Given the description of an element on the screen output the (x, y) to click on. 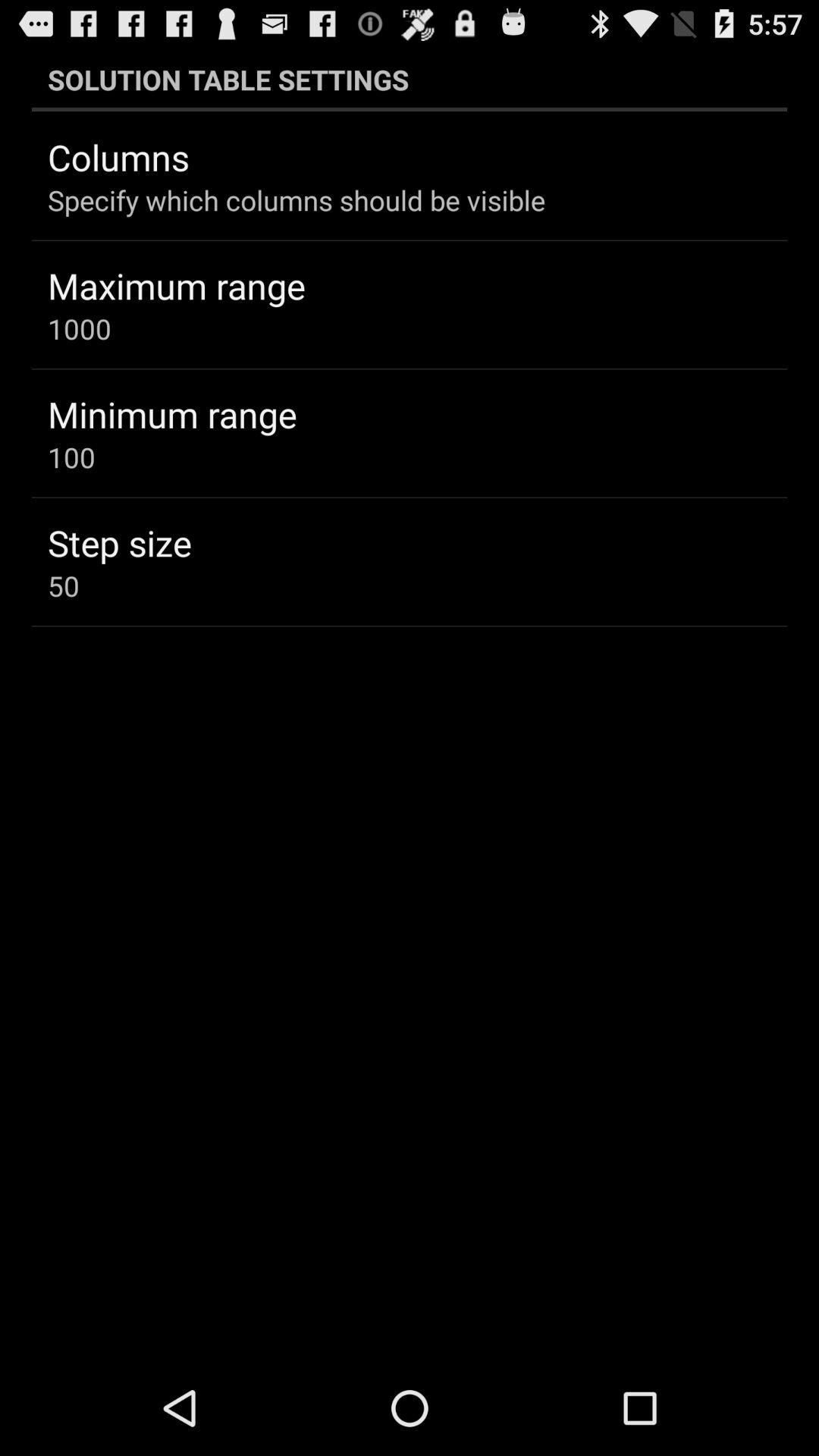
tap app above the columns icon (409, 79)
